Given the description of an element on the screen output the (x, y) to click on. 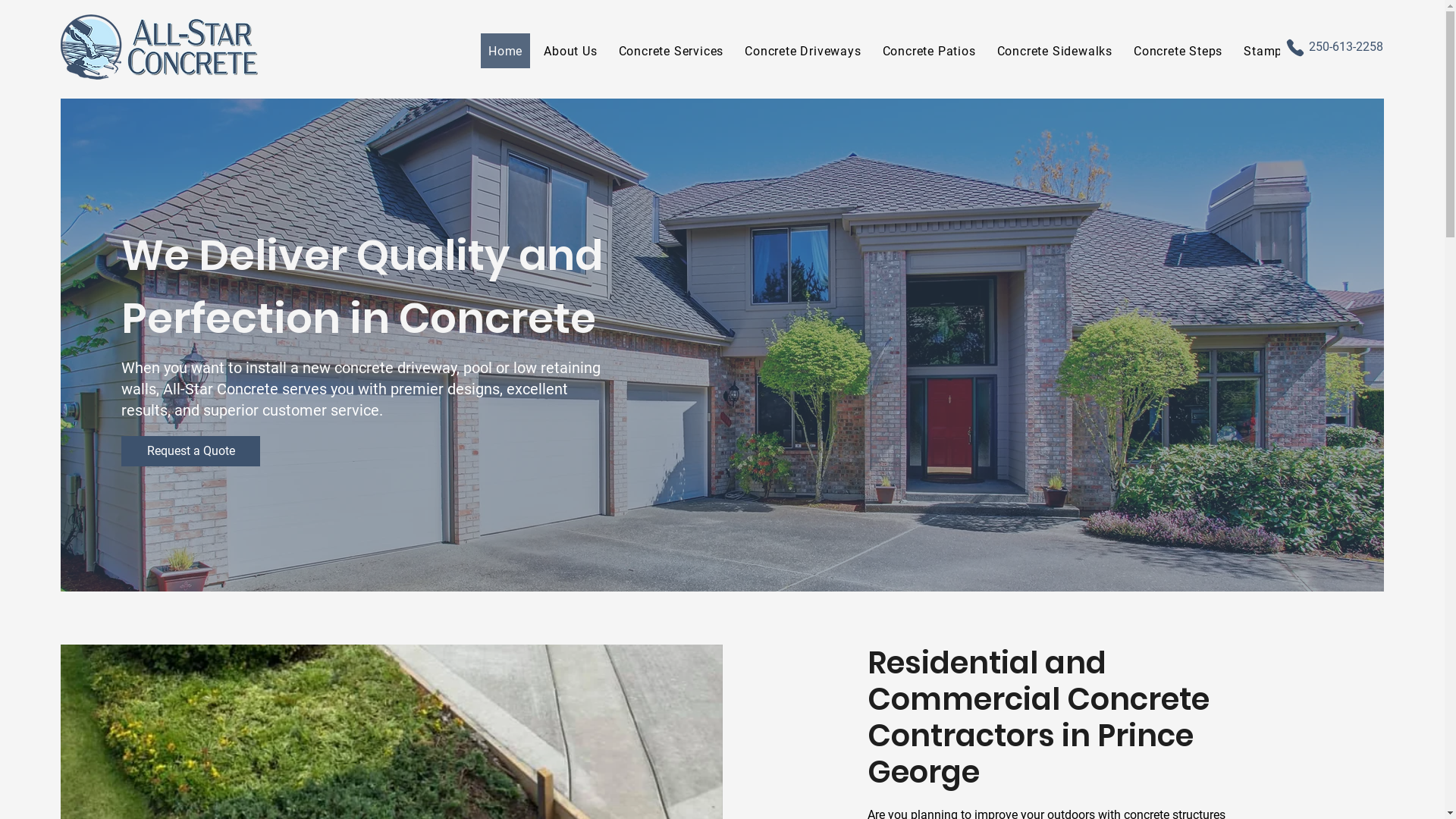
Concrete Sidewalks Element type: text (1054, 50)
About Us Element type: text (570, 50)
Home Element type: text (505, 50)
Stamped Concrete Element type: text (1297, 50)
Request a Quote Element type: text (190, 451)
Gallery Element type: text (1393, 50)
Concrete Services Element type: text (671, 50)
Concrete Patios Element type: text (929, 50)
Concrete Steps Element type: text (1178, 50)
Concrete Driveways Element type: text (802, 50)
250-613-2258 Element type: text (1345, 46)
